Given the description of an element on the screen output the (x, y) to click on. 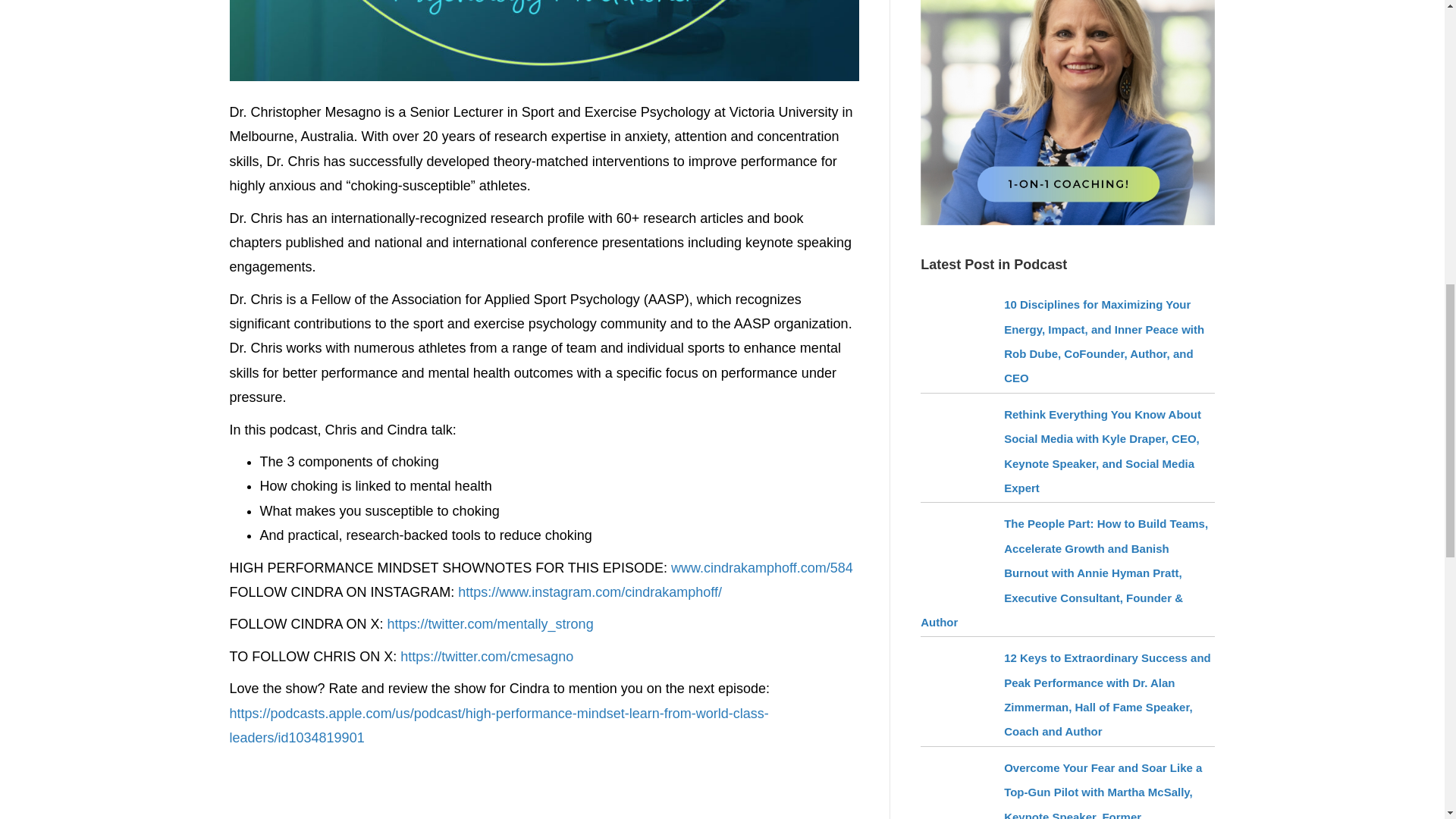
Embed Player (543, 788)
